Given the description of an element on the screen output the (x, y) to click on. 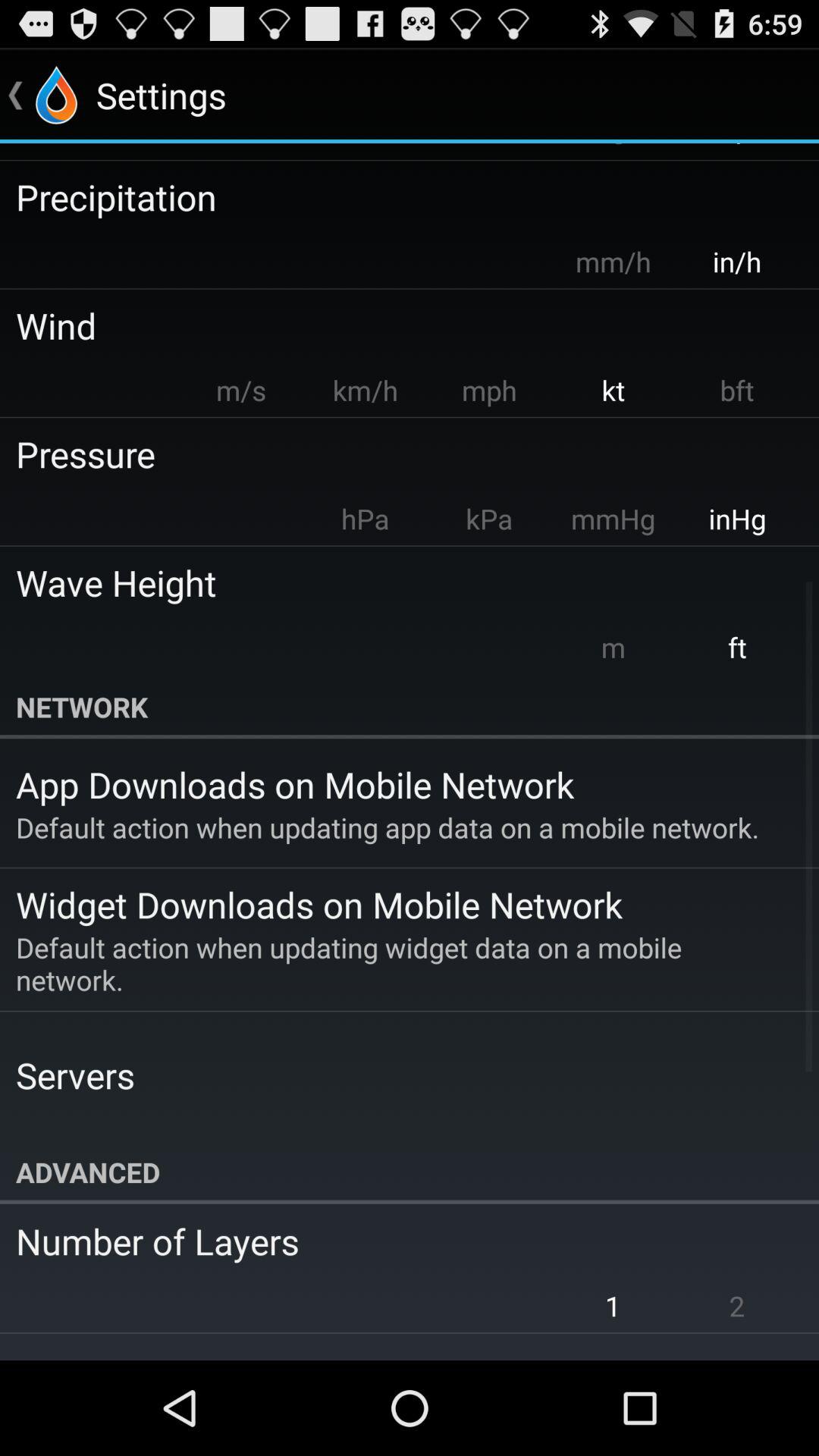
tap the hpa icon (365, 518)
